Given the description of an element on the screen output the (x, y) to click on. 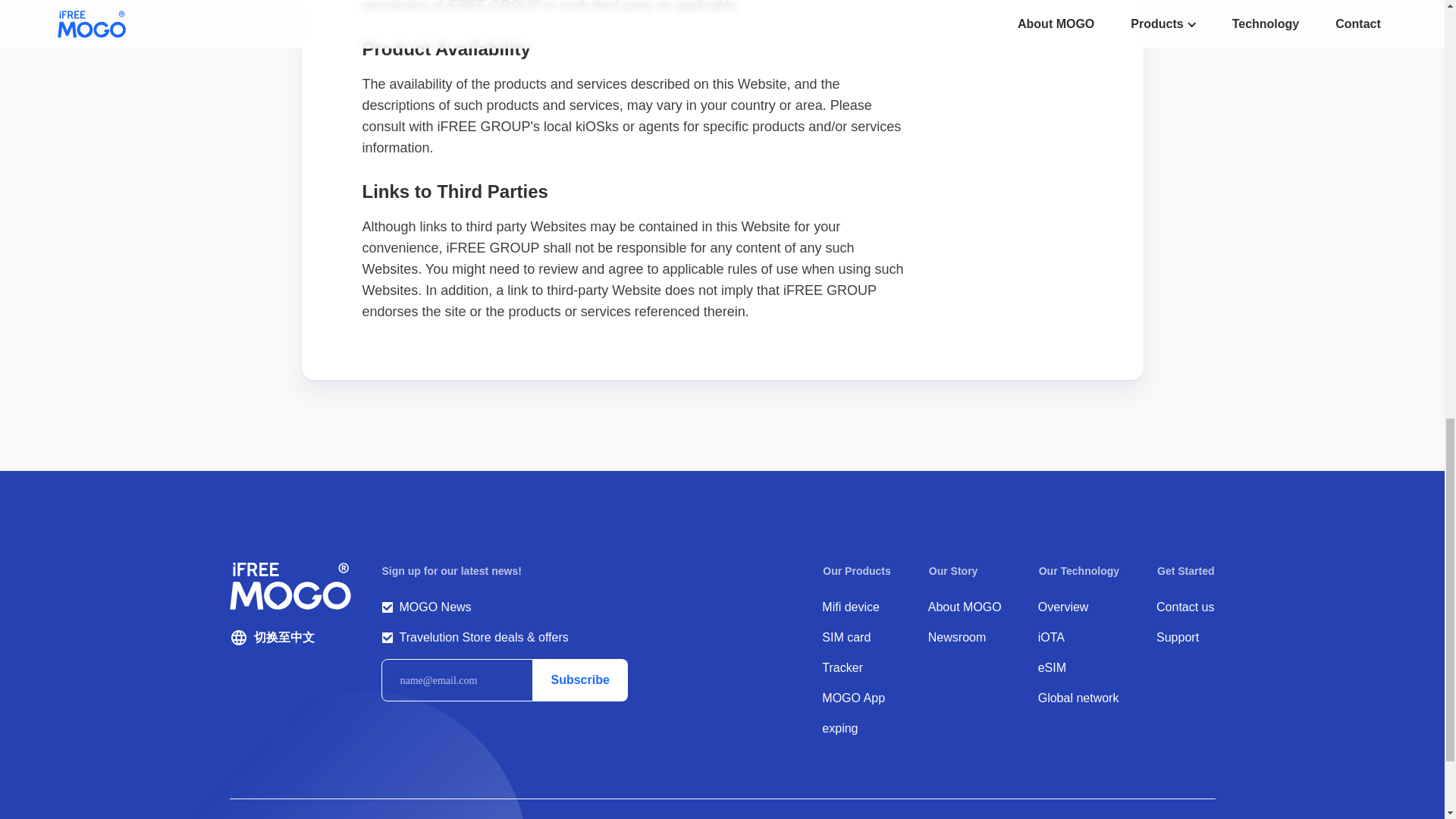
Global network (1078, 698)
About MOGO (964, 607)
Tracker (856, 668)
eSIM (1078, 668)
SIM card (856, 637)
MOGO App (856, 698)
Subscribe (579, 680)
Contact us (1185, 607)
Subscribe (579, 680)
iOTA (1078, 637)
Overview (1078, 607)
Newsroom (964, 637)
Mifi device (856, 607)
Support (1185, 637)
exping (856, 728)
